Given the description of an element on the screen output the (x, y) to click on. 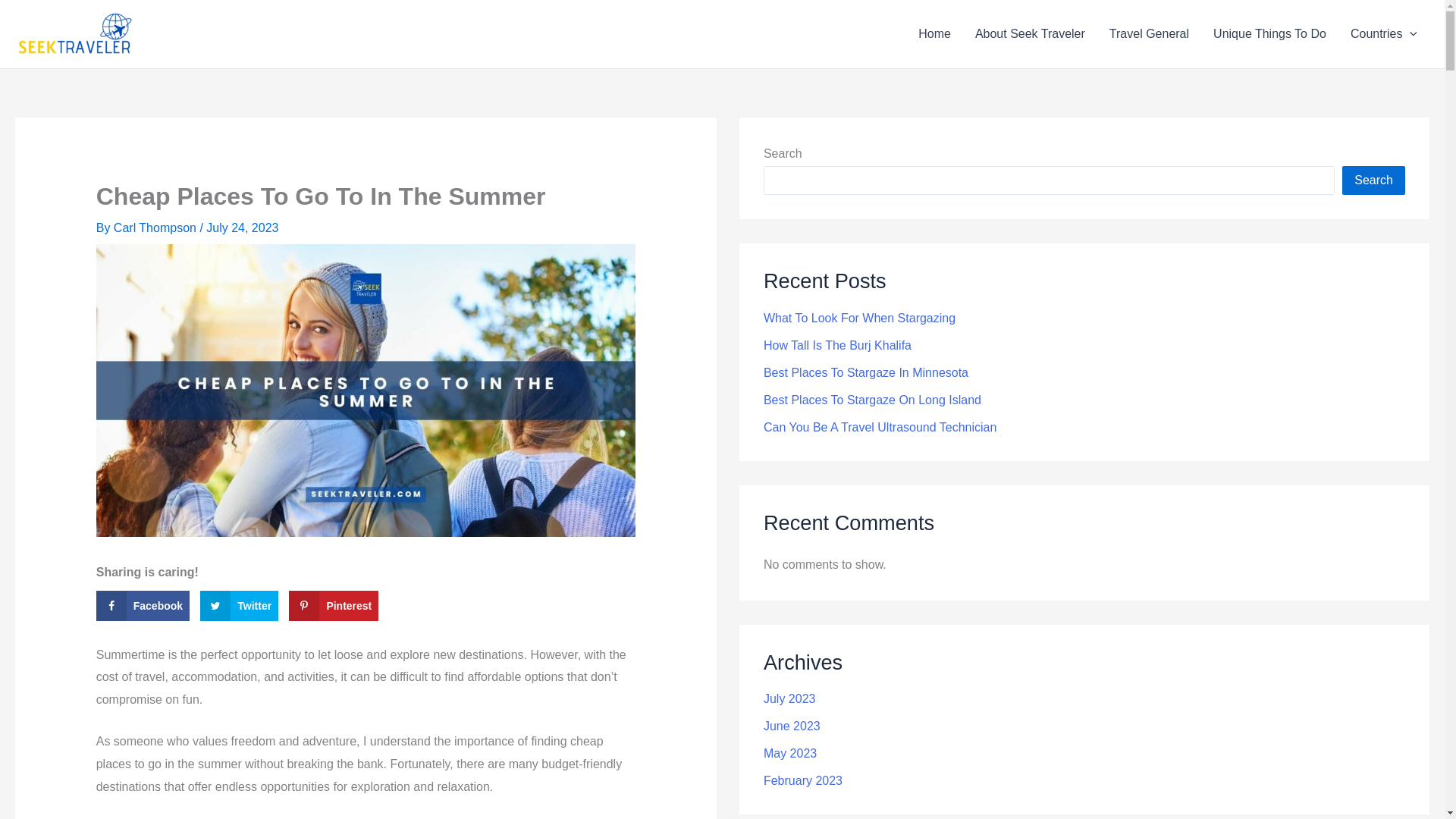
Travel General (1149, 34)
Facebook (142, 605)
About Seek Traveler (1029, 34)
Share on Twitter (239, 605)
Pinterest (333, 605)
Save to Pinterest (333, 605)
View all posts by Carl Thompson (156, 227)
Home (933, 34)
Carl Thompson (156, 227)
Countries (1383, 34)
